Given the description of an element on the screen output the (x, y) to click on. 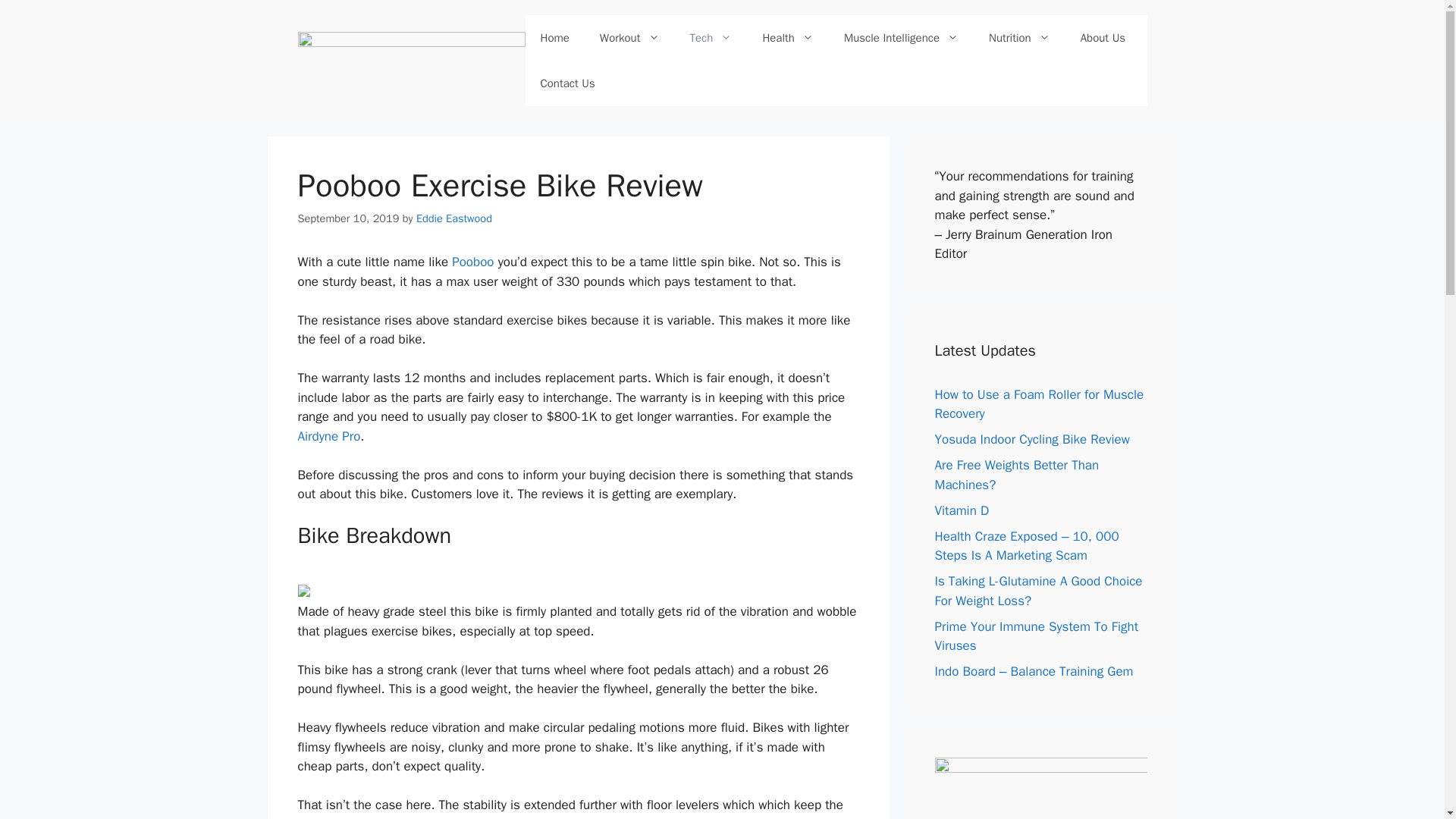
Home (553, 37)
Tech (711, 37)
Workout (630, 37)
View all posts by Eddie Eastwood (454, 218)
